Given the description of an element on the screen output the (x, y) to click on. 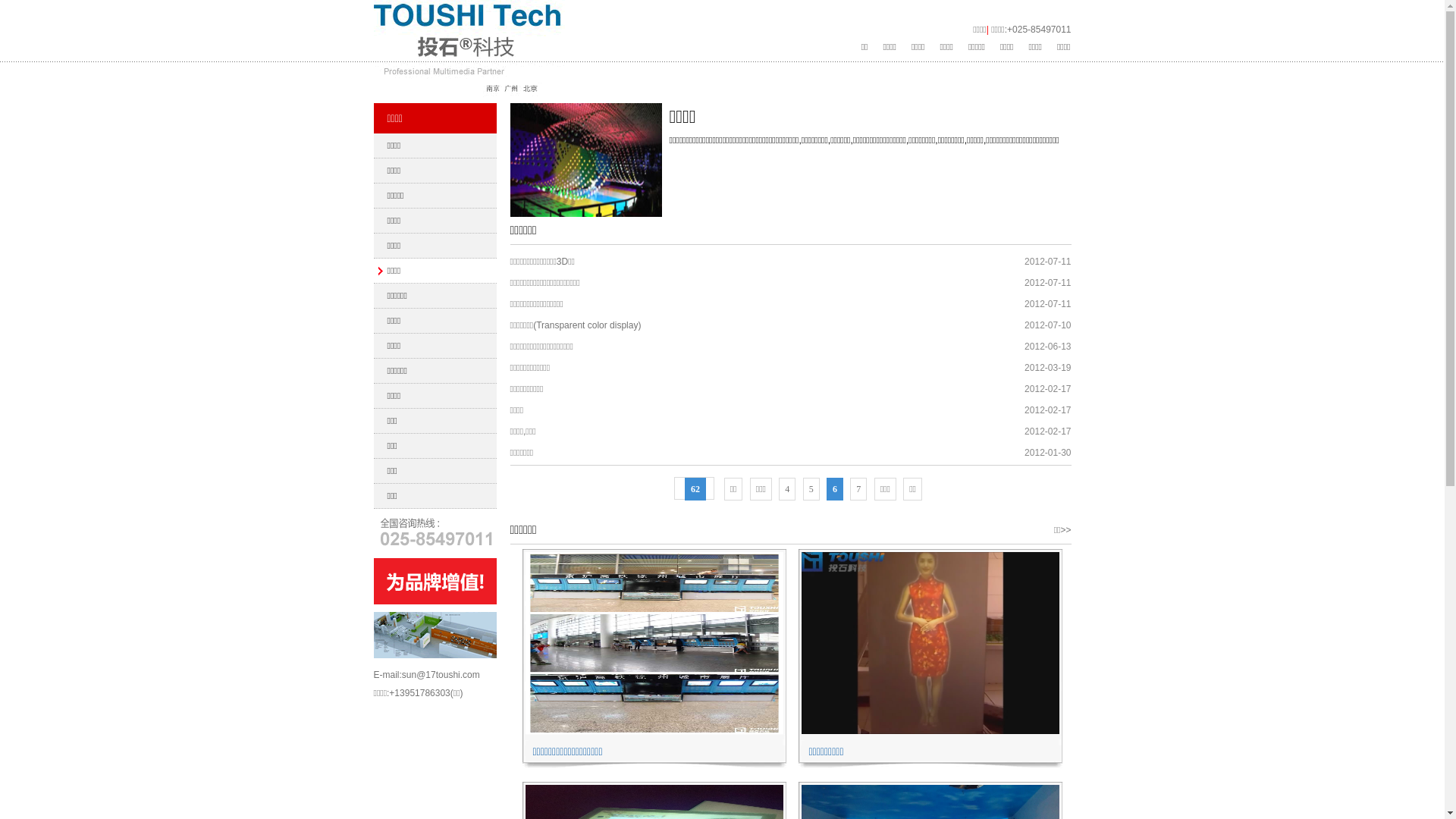
5 Element type: text (811, 488)
4 Element type: text (786, 488)
 62 Element type: text (694, 487)
7 Element type: text (858, 488)
